Given the description of an element on the screen output the (x, y) to click on. 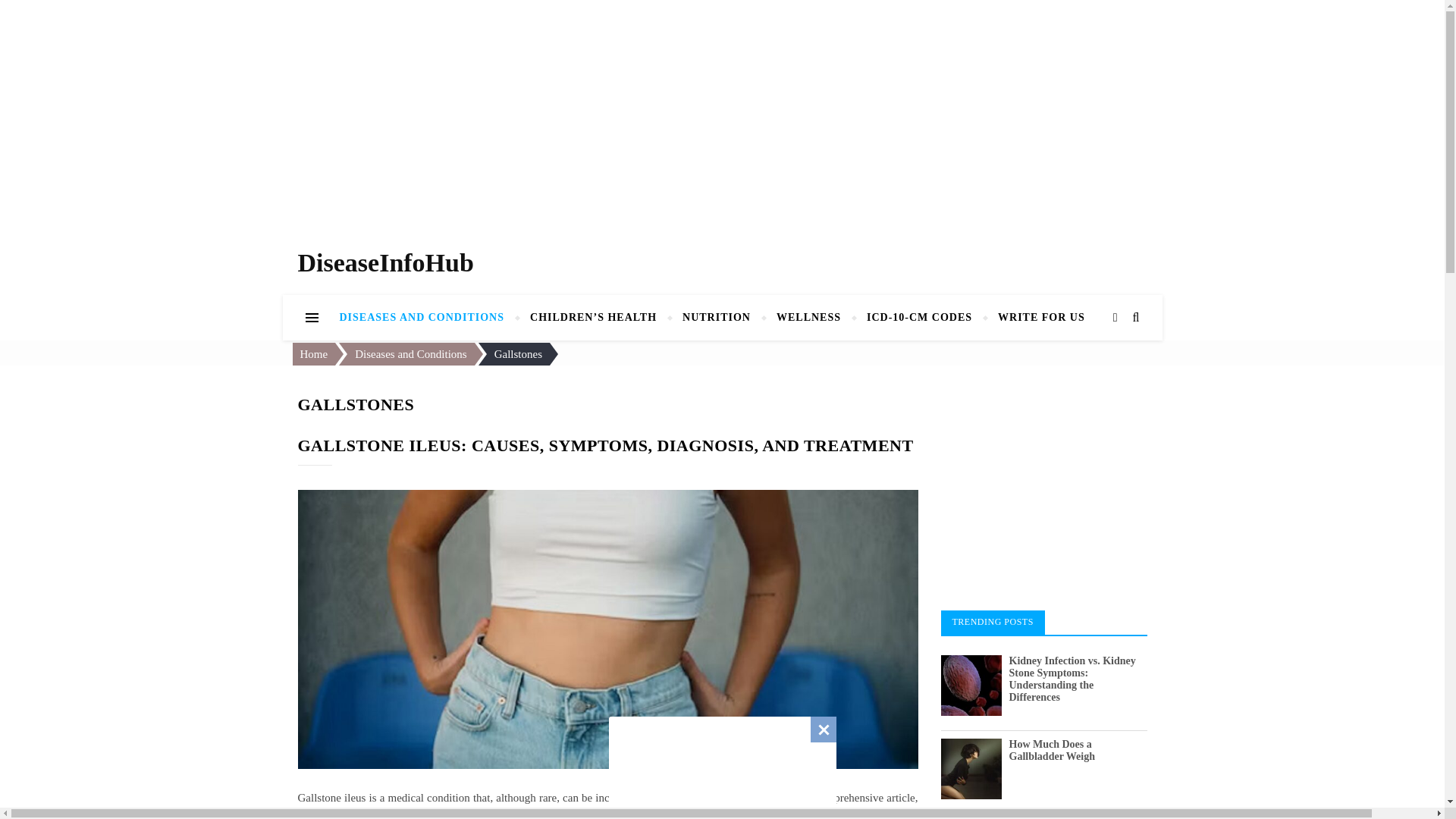
NUTRITION (715, 317)
WRITE FOR US (1041, 317)
DISEASES AND CONDITIONS (428, 317)
WELLNESS (807, 317)
DiseaseInfoHub (385, 262)
ICD-10-CM CODES (919, 317)
